Given the description of an element on the screen output the (x, y) to click on. 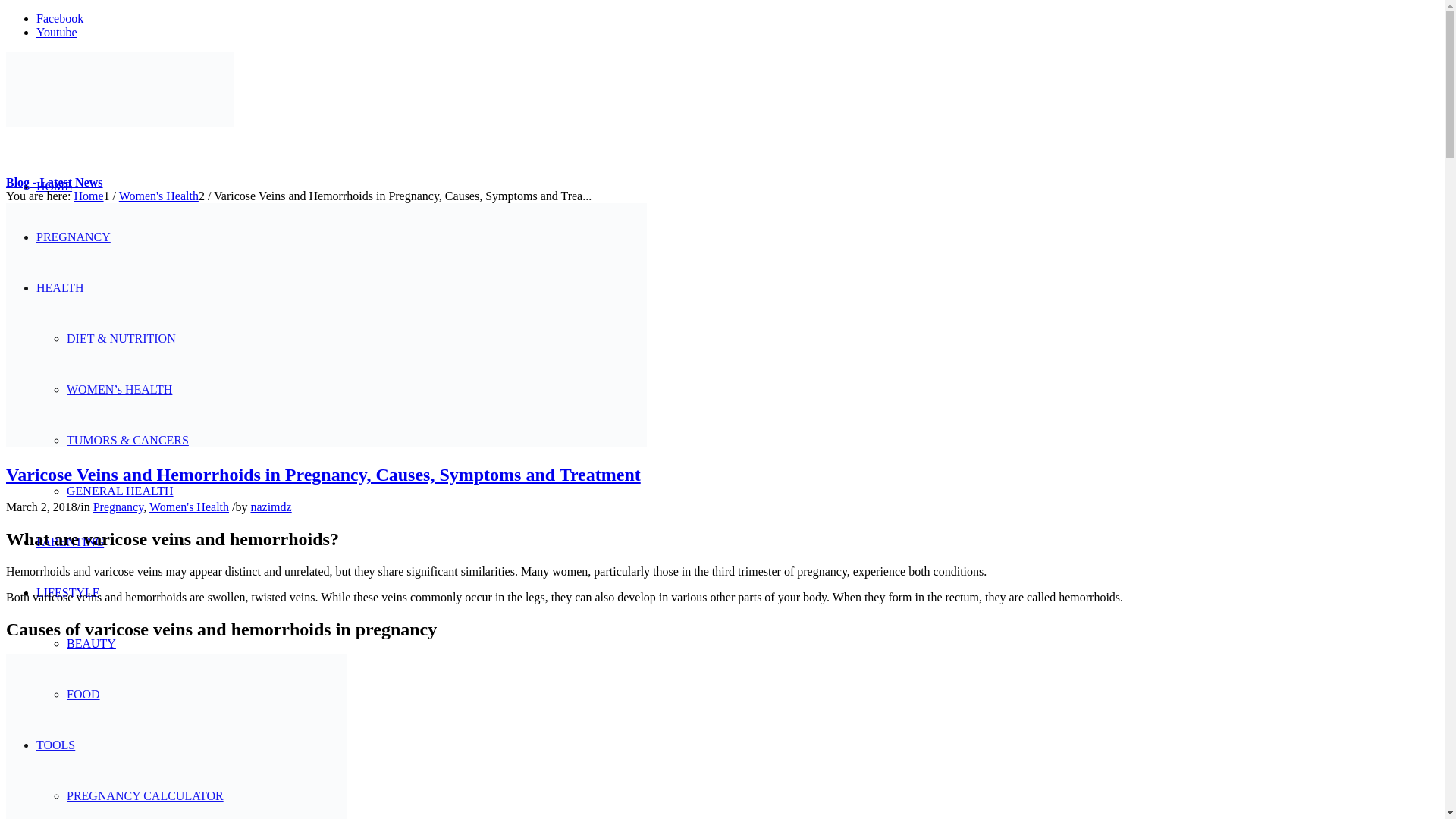
PREGNANCY CALCULATOR (145, 795)
BEAUTY (91, 643)
Posts by nazimdz (270, 506)
PARENTING (69, 541)
Doctor Zara (88, 195)
Youtube (56, 31)
HEALTH (60, 287)
GENERAL HEALTH (119, 490)
Blog - Latest News (54, 182)
Permanent Link: Blog - Latest News (54, 182)
